Given the description of an element on the screen output the (x, y) to click on. 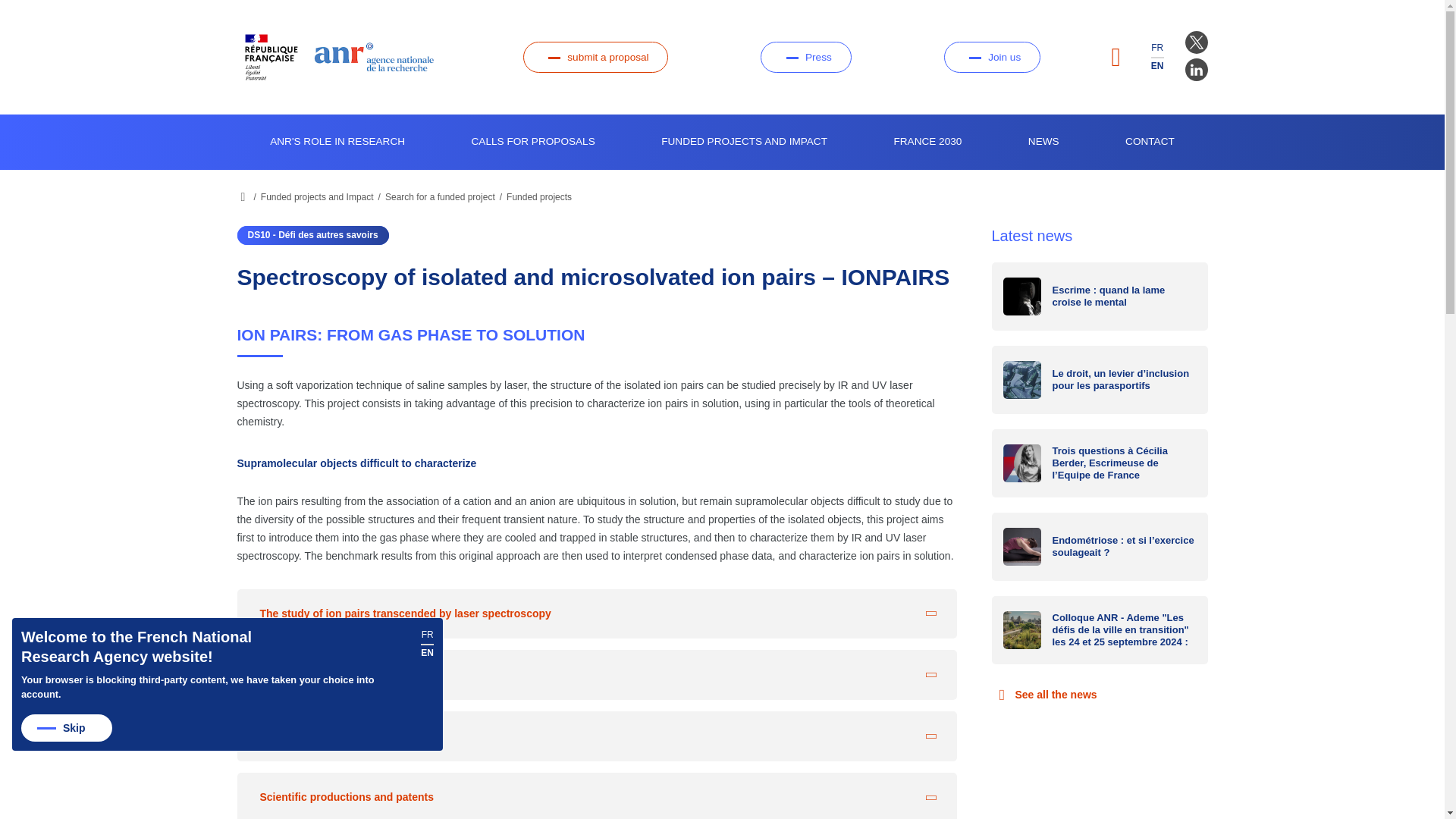
FR (1157, 47)
submit a proposal (595, 56)
ANR'S ROLE IN RESEARCH (336, 141)
EN (1157, 65)
Join us (992, 56)
Escrime : quand la lame croise le mental (1099, 296)
Press (805, 56)
